Given the description of an element on the screen output the (x, y) to click on. 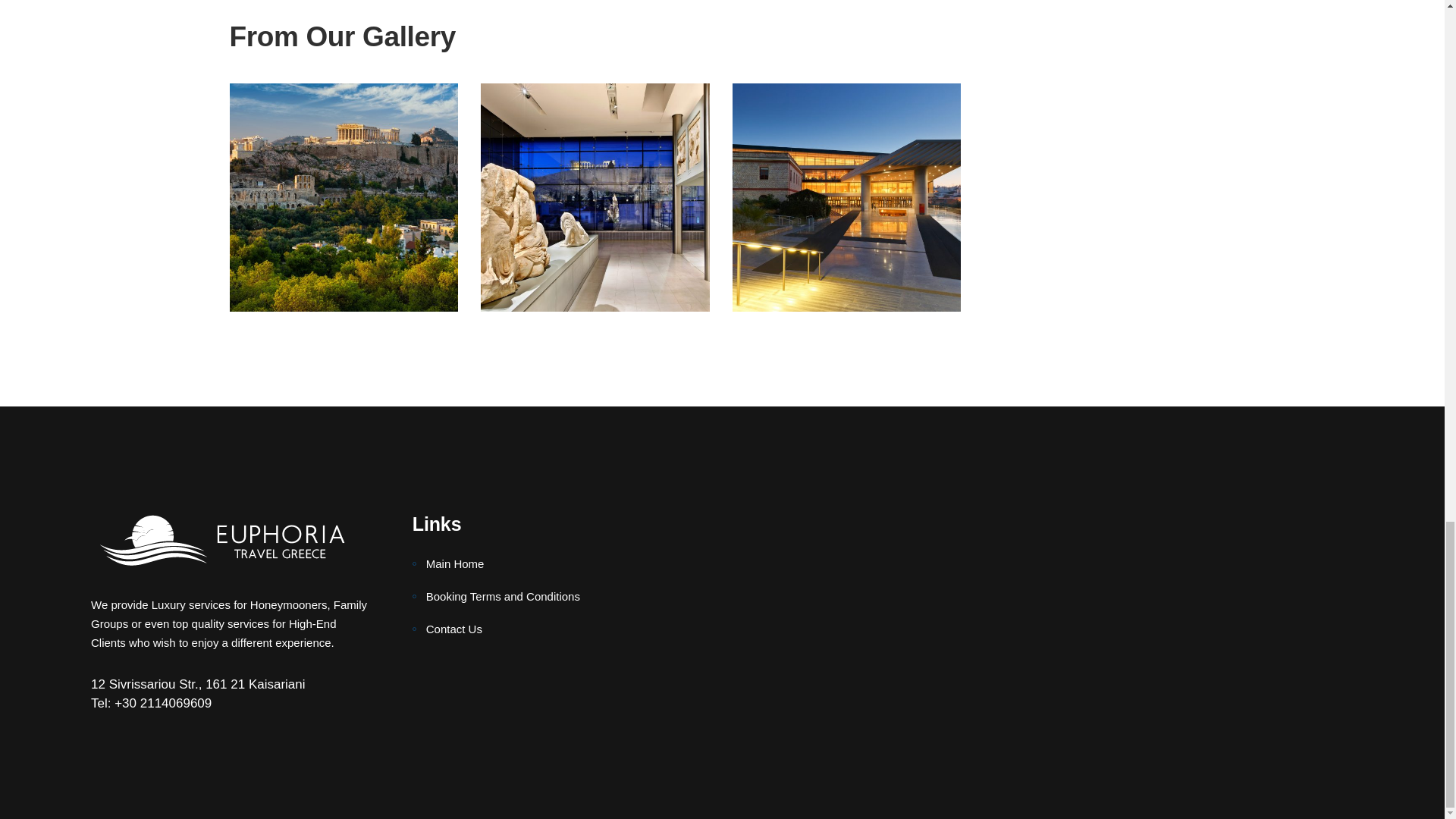
Booking Terms and Conditions (495, 596)
Main Home (448, 563)
